Given the description of an element on the screen output the (x, y) to click on. 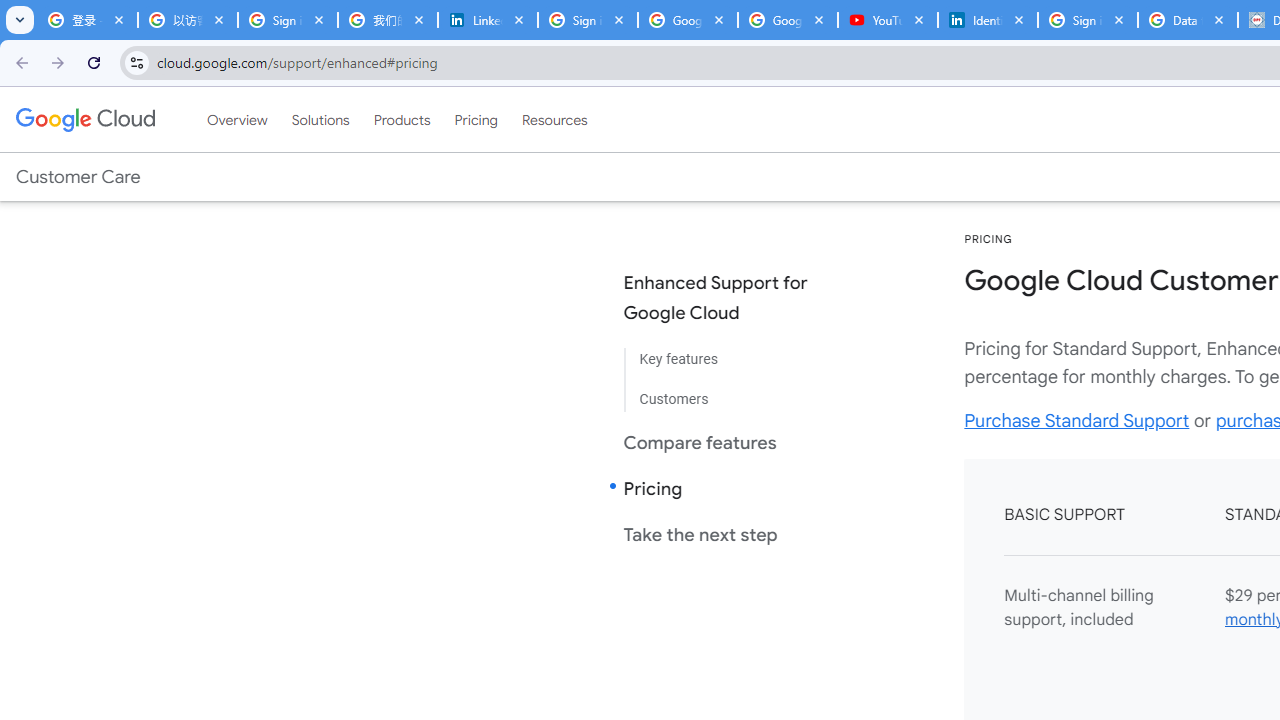
Forward (57, 62)
Search tabs (20, 20)
View site information (136, 62)
Take the next step (732, 534)
Compare features (732, 442)
Back (19, 62)
Overview (236, 119)
Solutions (320, 119)
Customers (732, 391)
LinkedIn Privacy Policy (487, 20)
Pricing (476, 119)
